Given the description of an element on the screen output the (x, y) to click on. 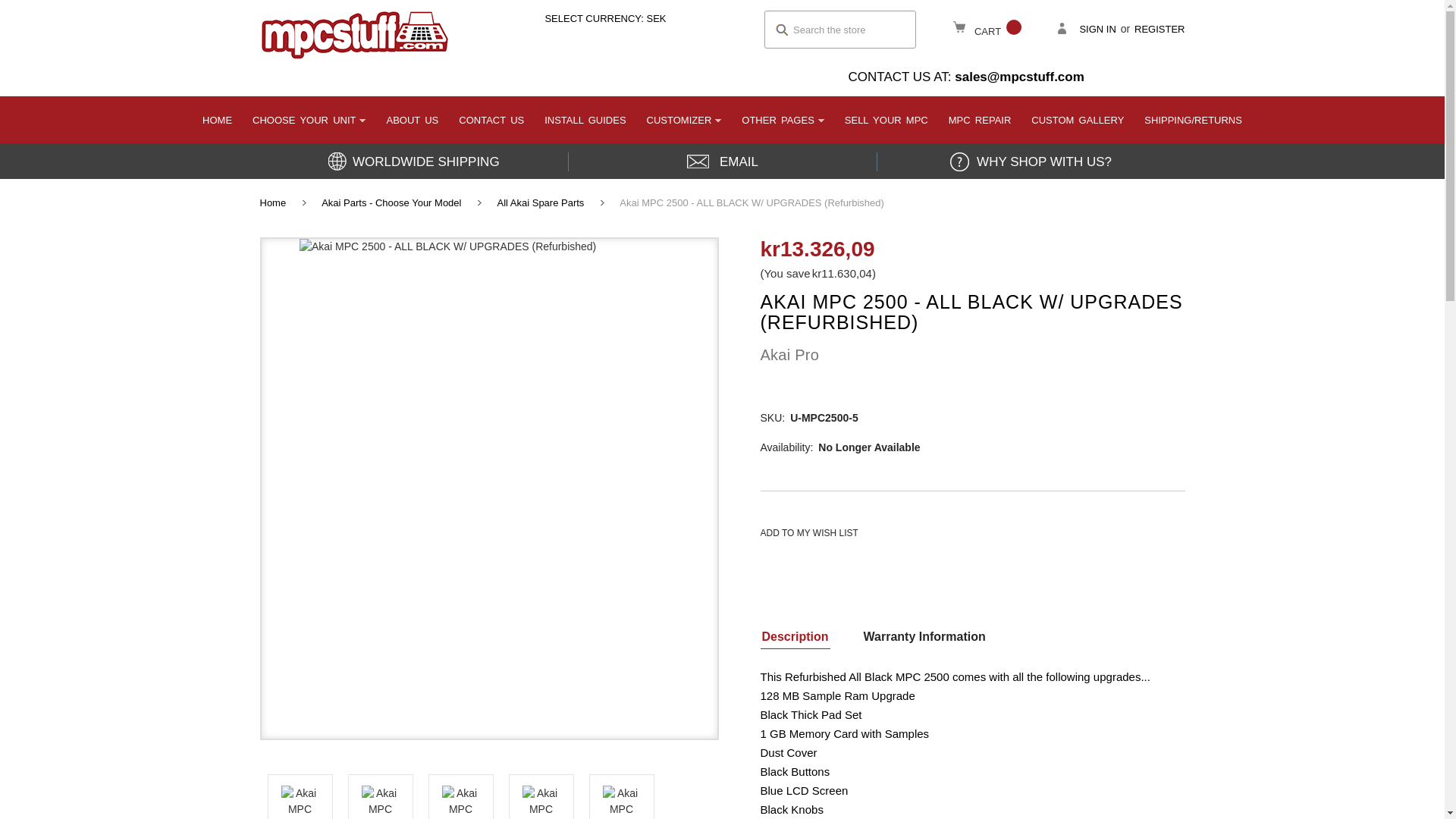
REGISTER (1159, 29)
Add to My Wish List (808, 532)
CART (987, 29)
SIGN IN (1086, 29)
SELECT CURRENCY: SEK (599, 18)
HOME (216, 118)
CHOOSE YOUR UNIT (309, 118)
